Given the description of an element on the screen output the (x, y) to click on. 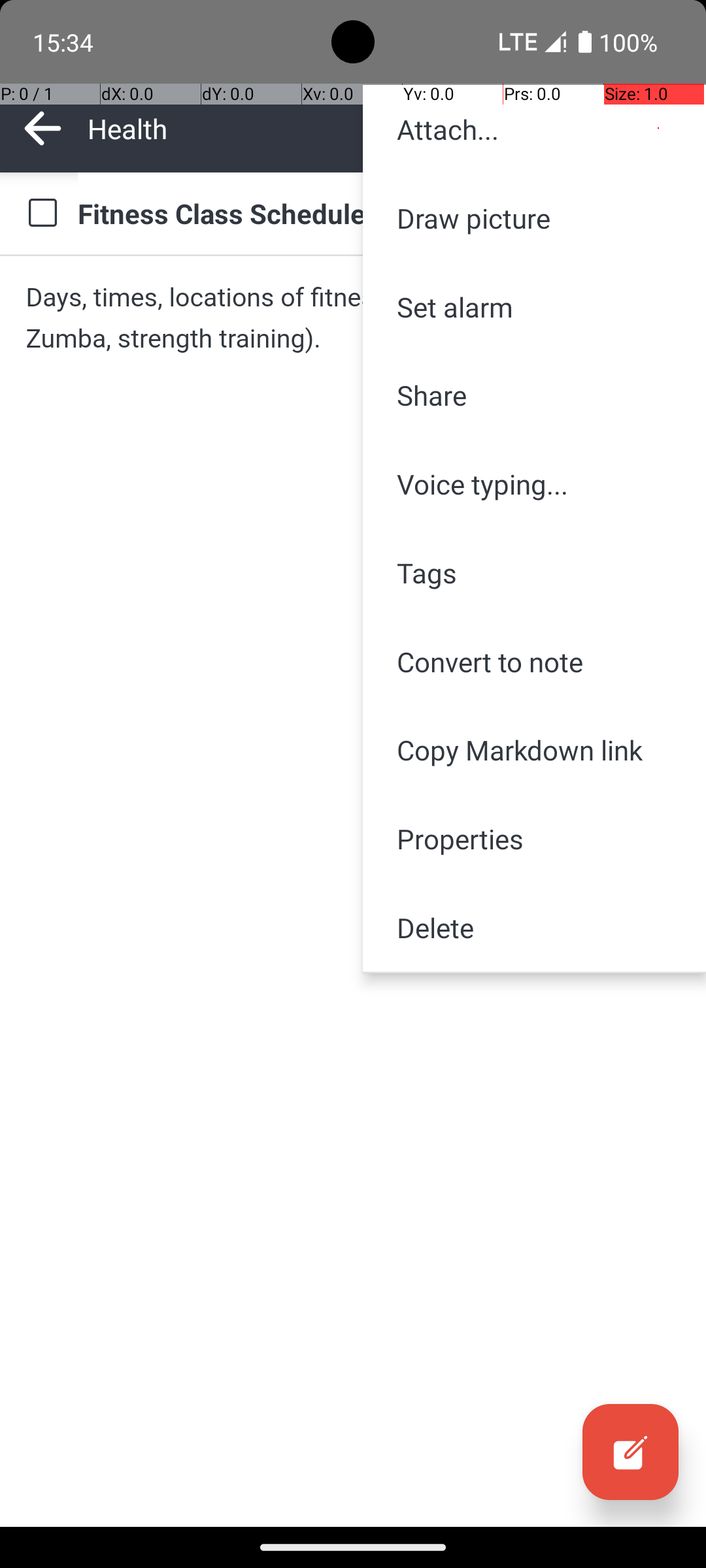
Set alarm Element type: android.widget.TextView (534, 306)
Convert to note Element type: android.widget.TextView (534, 661)
Days, times, locations of fitness classes (yoga, Pilates, Zumba, strength training). Element type: android.widget.TextView (352, 317)
